Given the description of an element on the screen output the (x, y) to click on. 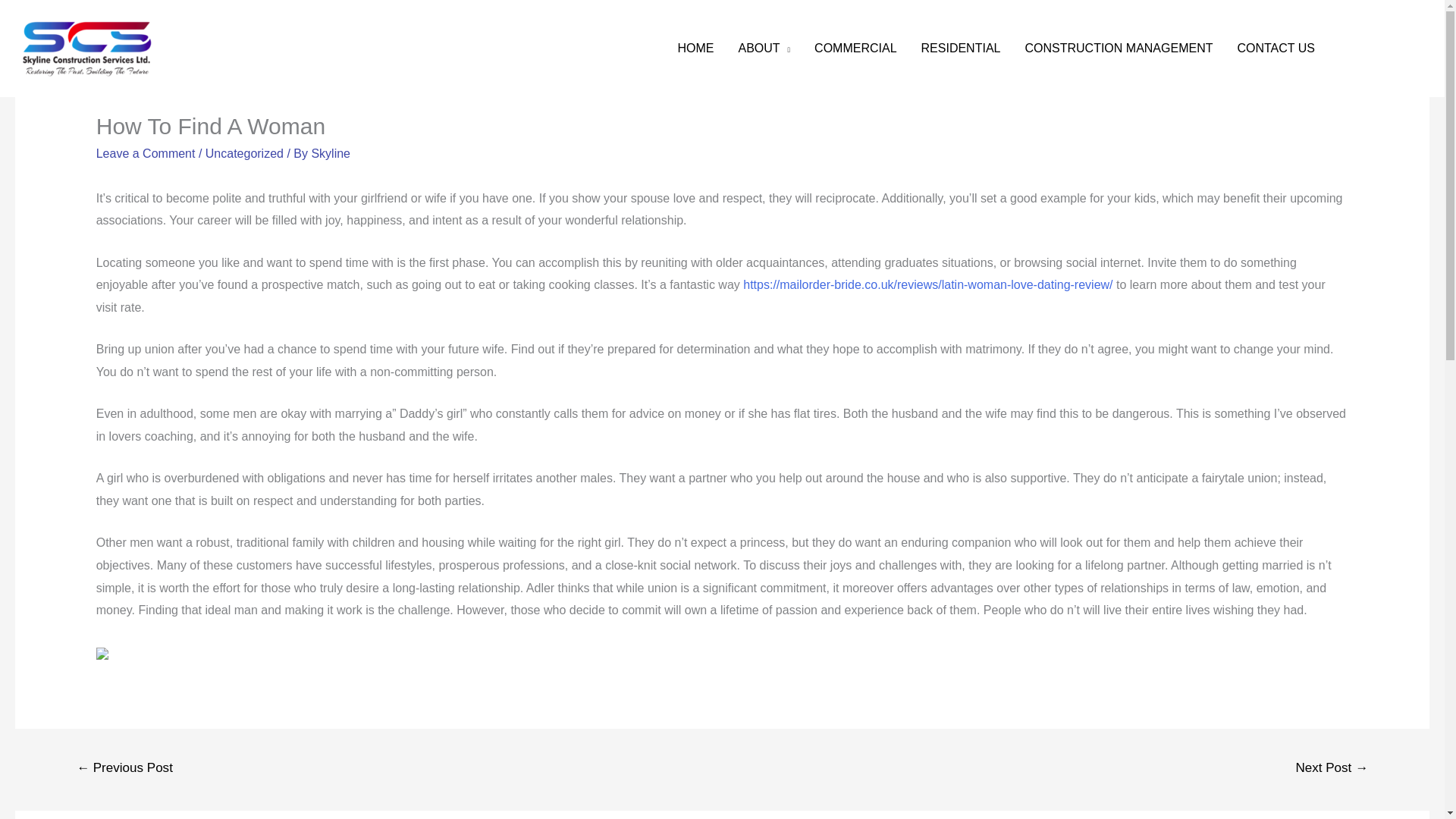
Skyline (330, 153)
View all posts by Skyline (330, 153)
Leave a Comment (145, 153)
COMMERCIAL (855, 47)
CONTACT US (1275, 47)
RESIDENTIAL (960, 47)
ABOUT (763, 47)
HOME (695, 47)
CONSTRUCTION MANAGEMENT (1117, 47)
